Given the description of an element on the screen output the (x, y) to click on. 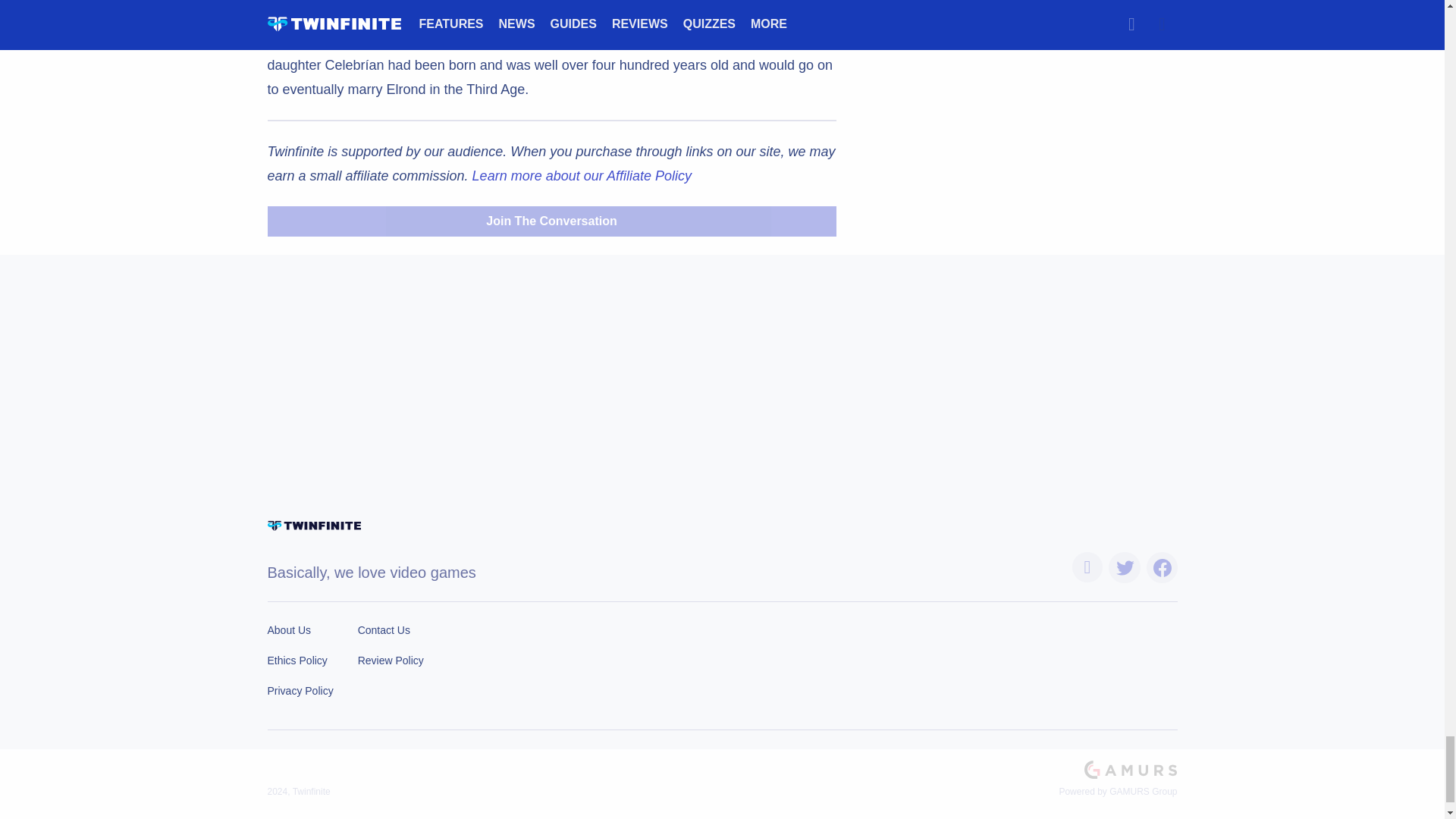
Join The Conversation (550, 221)
